Given the description of an element on the screen output the (x, y) to click on. 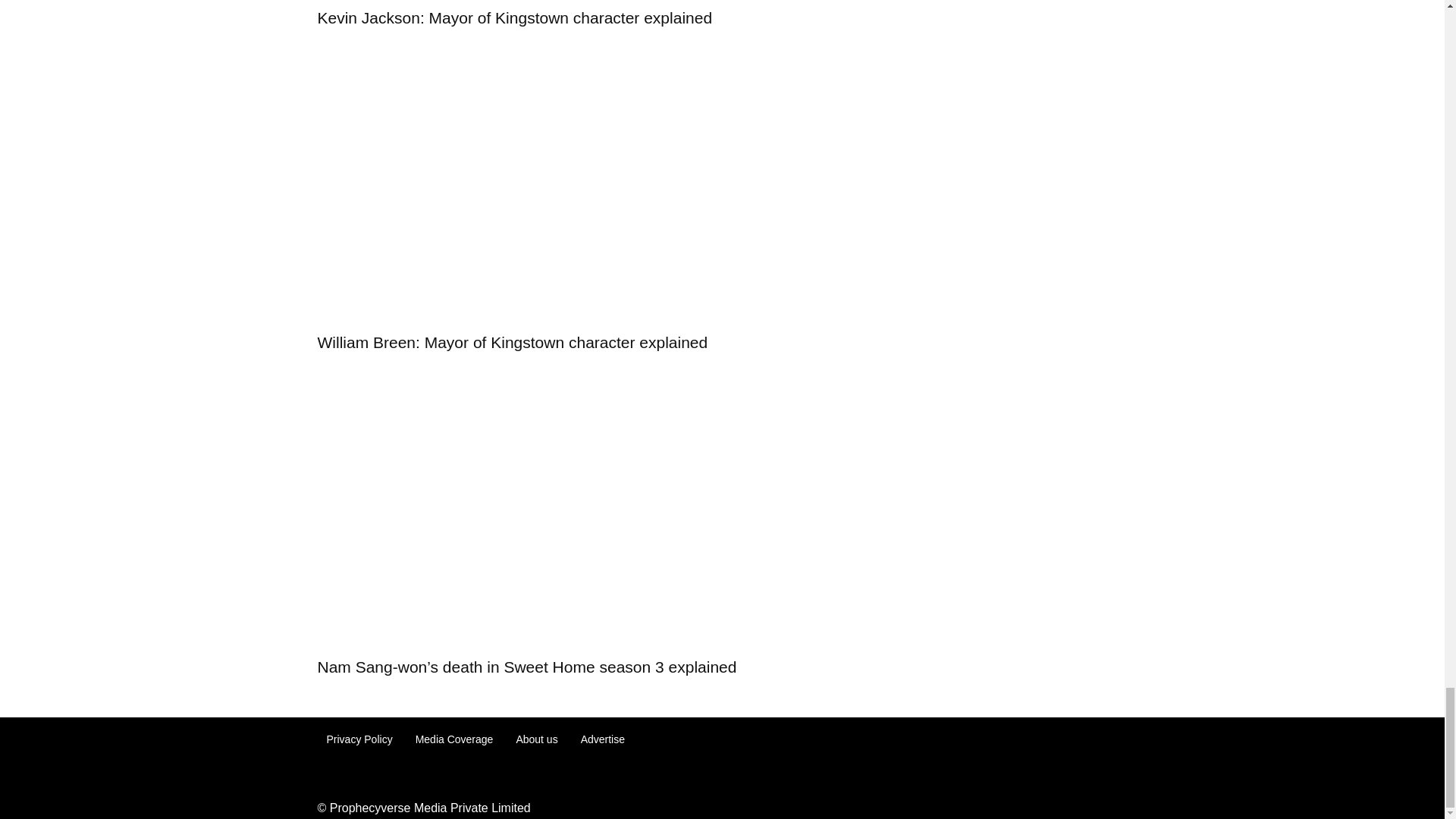
About us (536, 739)
Privacy Policy (358, 739)
Kevin Jackson: Mayor of Kingstown character explained (514, 17)
William Breen: Mayor of Kingstown character explained (512, 342)
Media Coverage (453, 739)
